Given the description of an element on the screen output the (x, y) to click on. 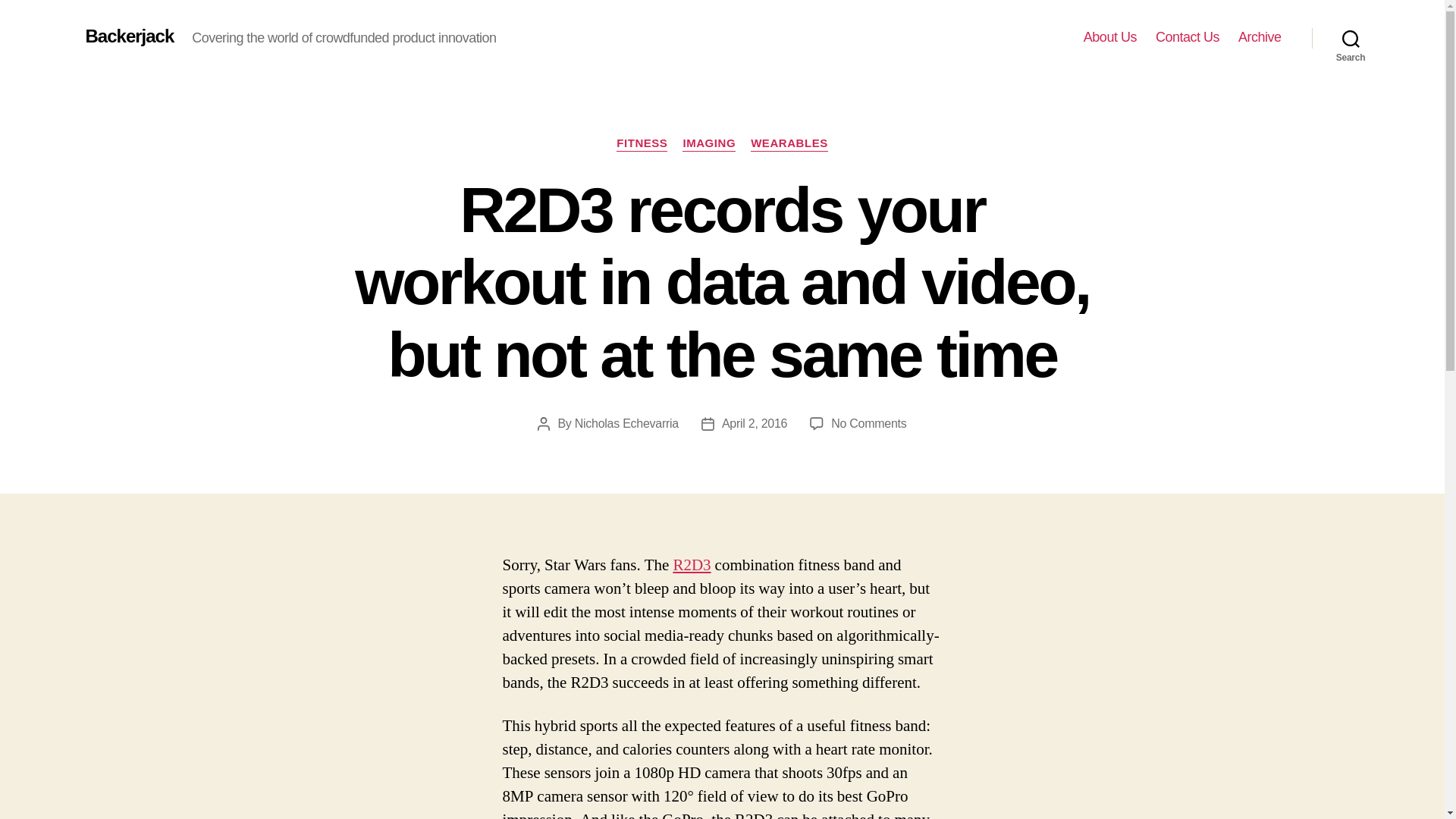
FITNESS (640, 143)
Backerjack (128, 36)
Contact Us (1188, 37)
Archive (1260, 37)
R2D3 (691, 565)
April 2, 2016 (754, 422)
WEARABLES (789, 143)
IMAGING (708, 143)
About Us (1110, 37)
Nicholas Echevarria (626, 422)
Search (1350, 37)
